Given the description of an element on the screen output the (x, y) to click on. 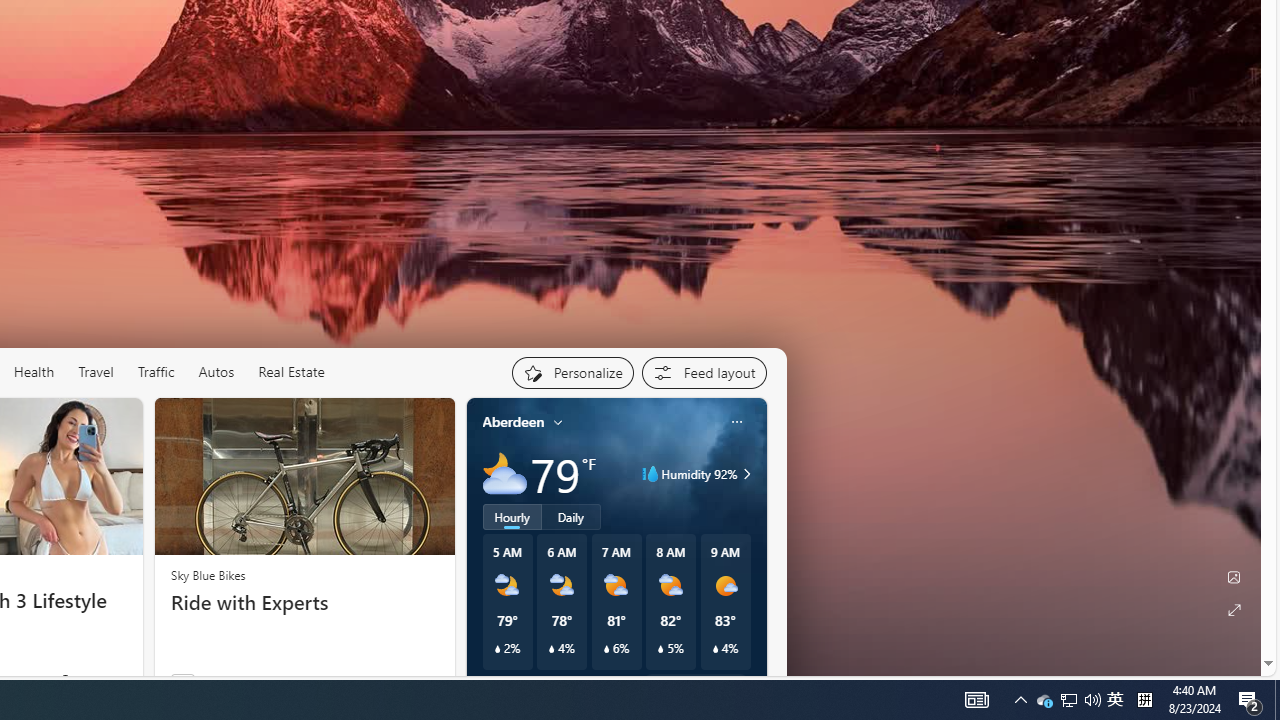
Aberdeen (513, 422)
Sky Blue Bikes (207, 575)
Feed settings (703, 372)
My location (558, 421)
